Given the description of an element on the screen output the (x, y) to click on. 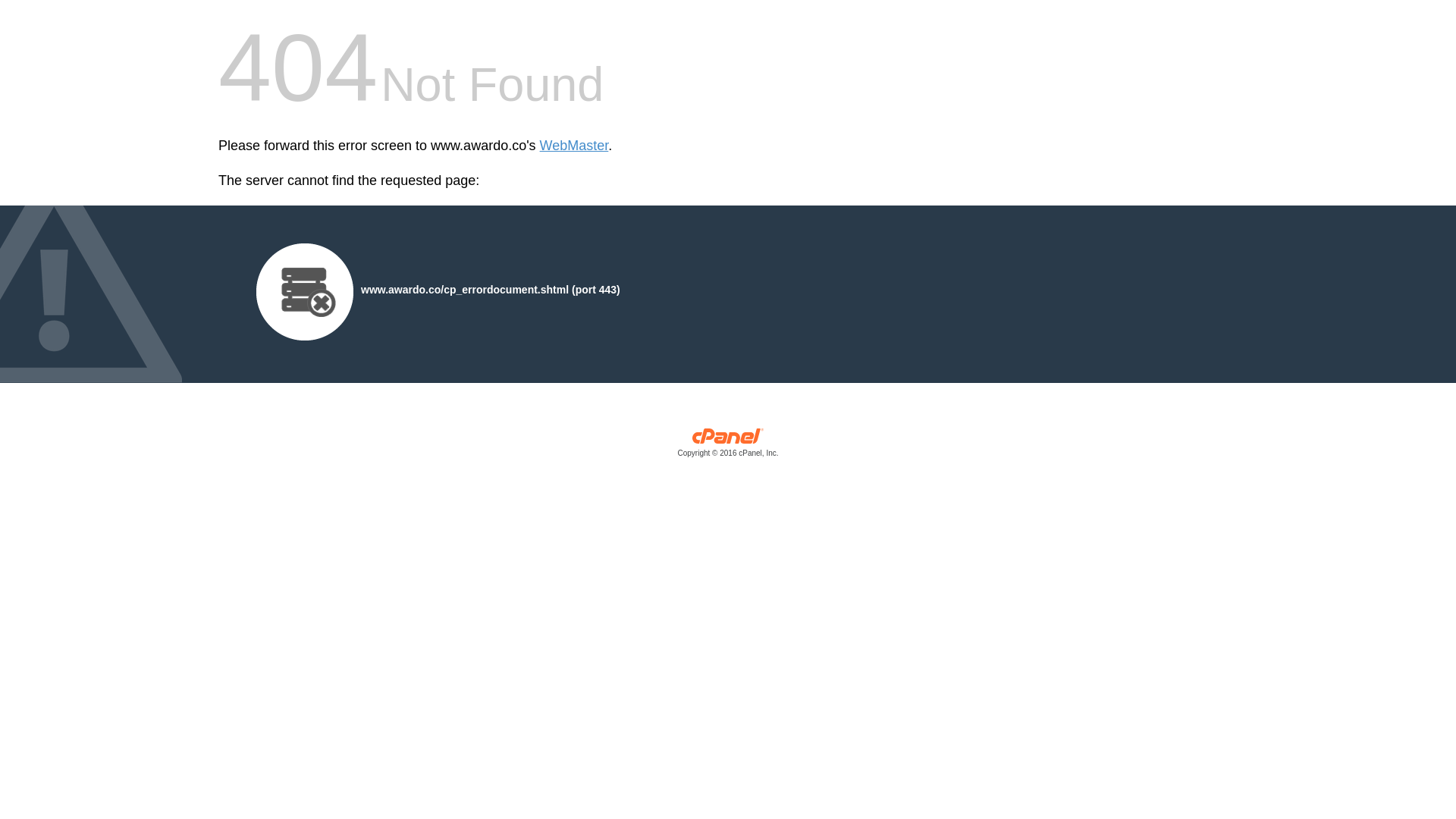
WebMaster (574, 145)
cPanel, Inc. (727, 446)
